Given the description of an element on the screen output the (x, y) to click on. 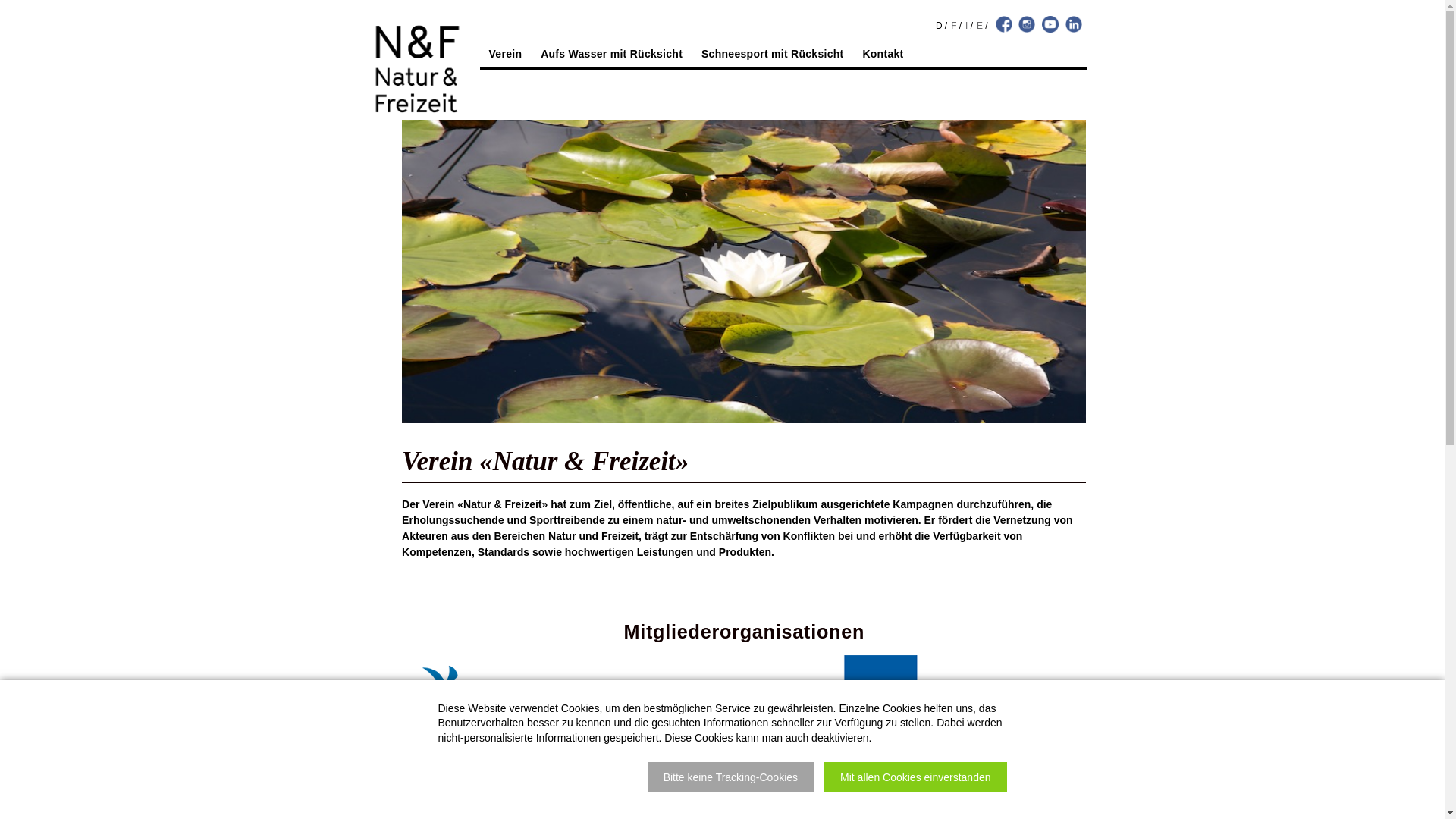
E Element type: text (979, 25)
F Element type: text (953, 25)
Verein Element type: text (505, 55)
Kontakt Element type: text (882, 55)
I Element type: text (966, 25)
